Given the description of an element on the screen output the (x, y) to click on. 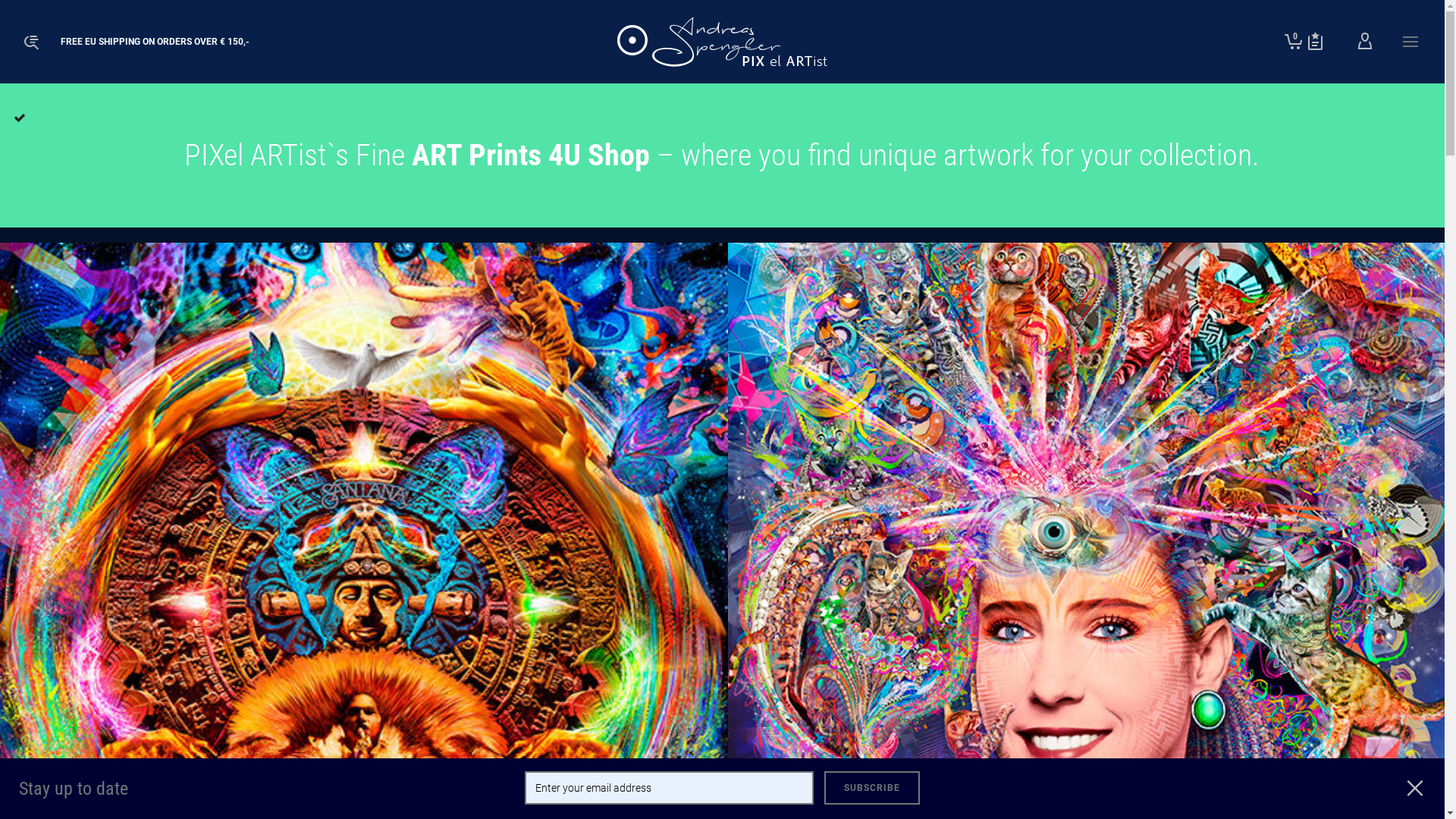
0 Element type: text (1293, 41)
Enter your email address Element type: hover (668, 787)
Wunschliste anzeigen Element type: hover (1315, 41)
SUBSCRIBE Element type: text (871, 787)
